Given the description of an element on the screen output the (x, y) to click on. 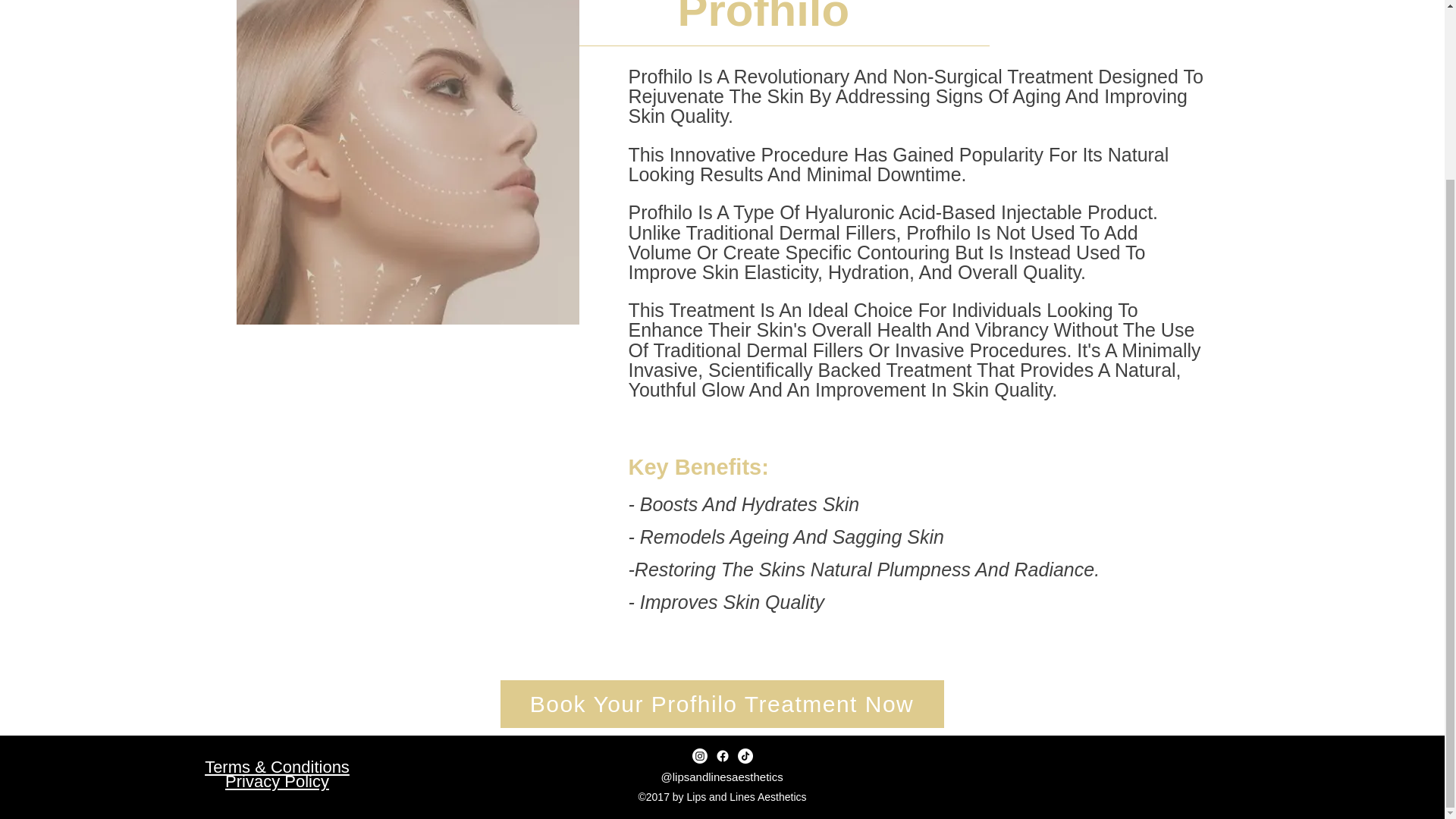
Privacy Policy (277, 781)
Book Your Profhilo Treatment Now (721, 704)
